Given the description of an element on the screen output the (x, y) to click on. 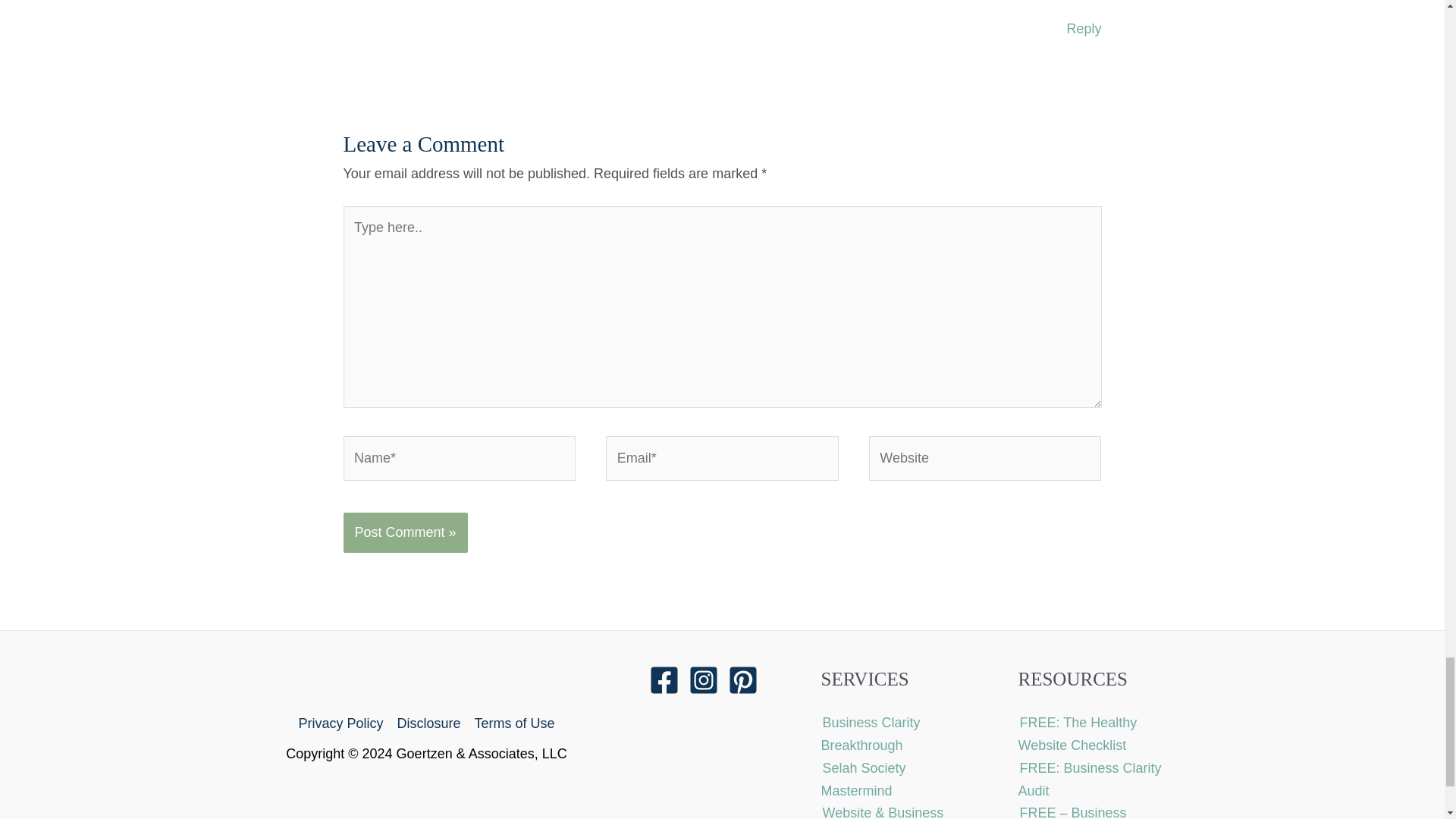
Reply (1082, 28)
